Given the description of an element on the screen output the (x, y) to click on. 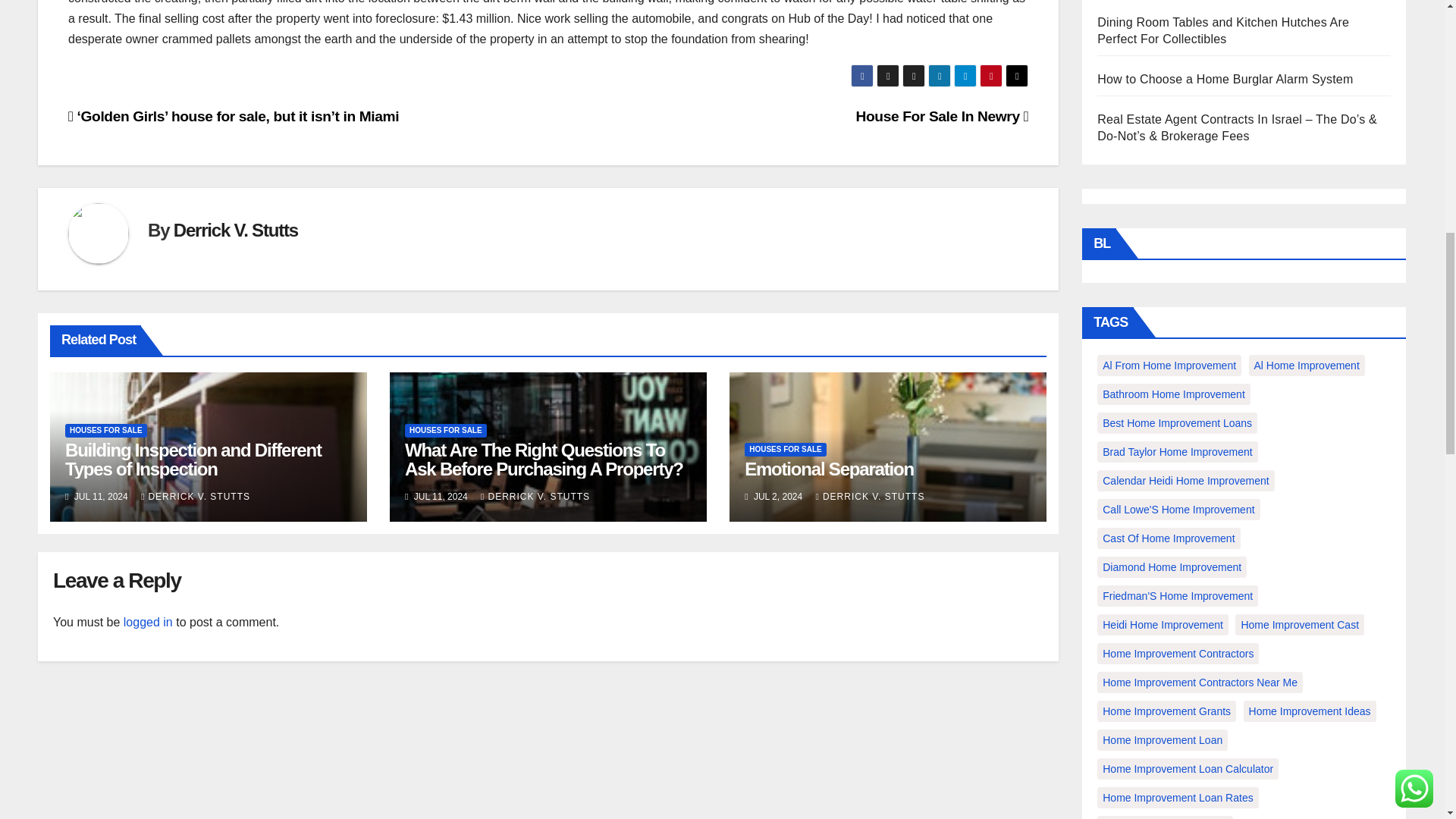
House For Sale In Newry (942, 116)
